Given the description of an element on the screen output the (x, y) to click on. 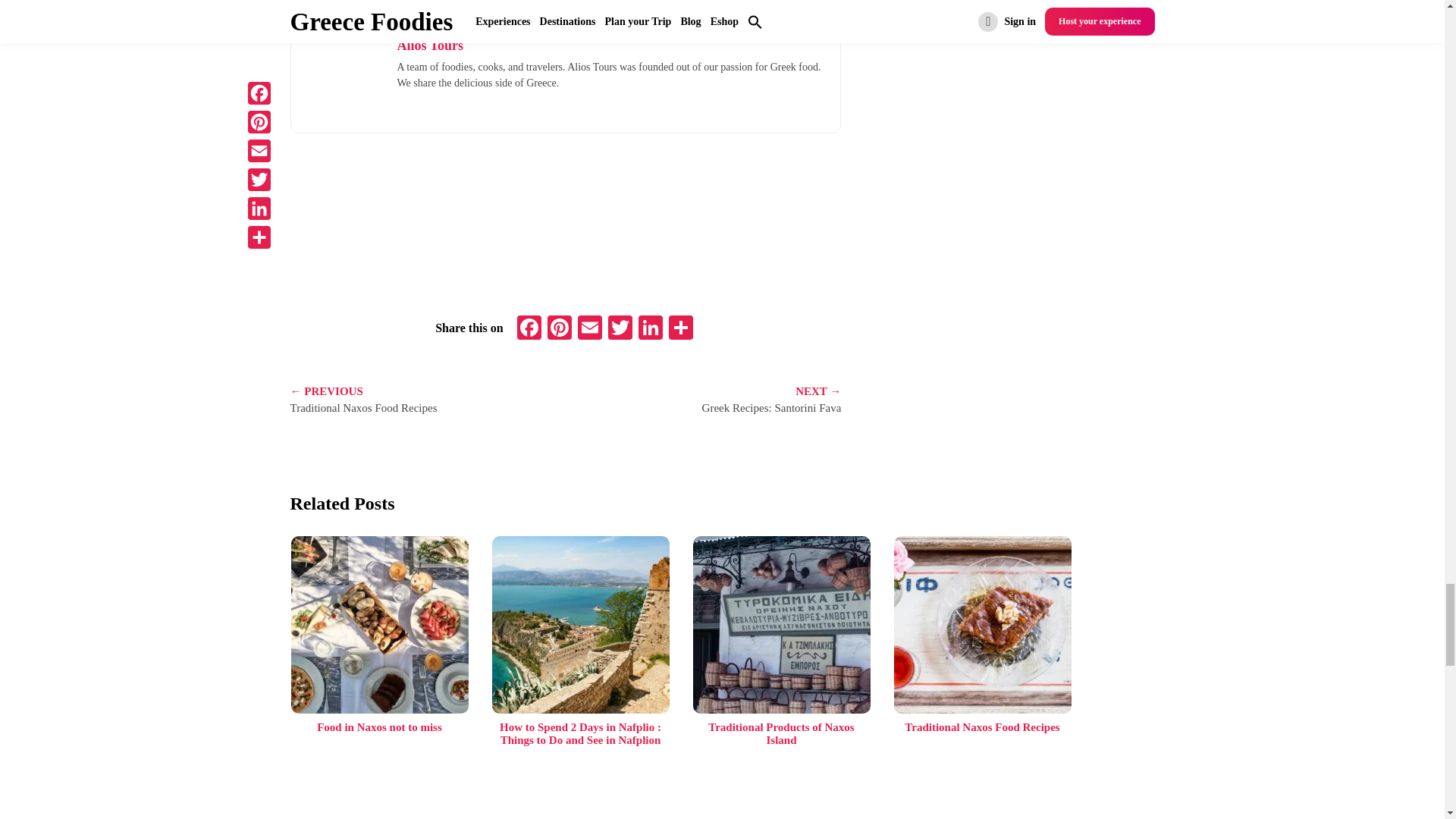
GetYourGuide Widget (565, 220)
Email (590, 329)
Facebook (528, 329)
Pinterest (559, 329)
10 Best Restaurants in Naxos Greece 5 (343, 74)
